Given the description of an element on the screen output the (x, y) to click on. 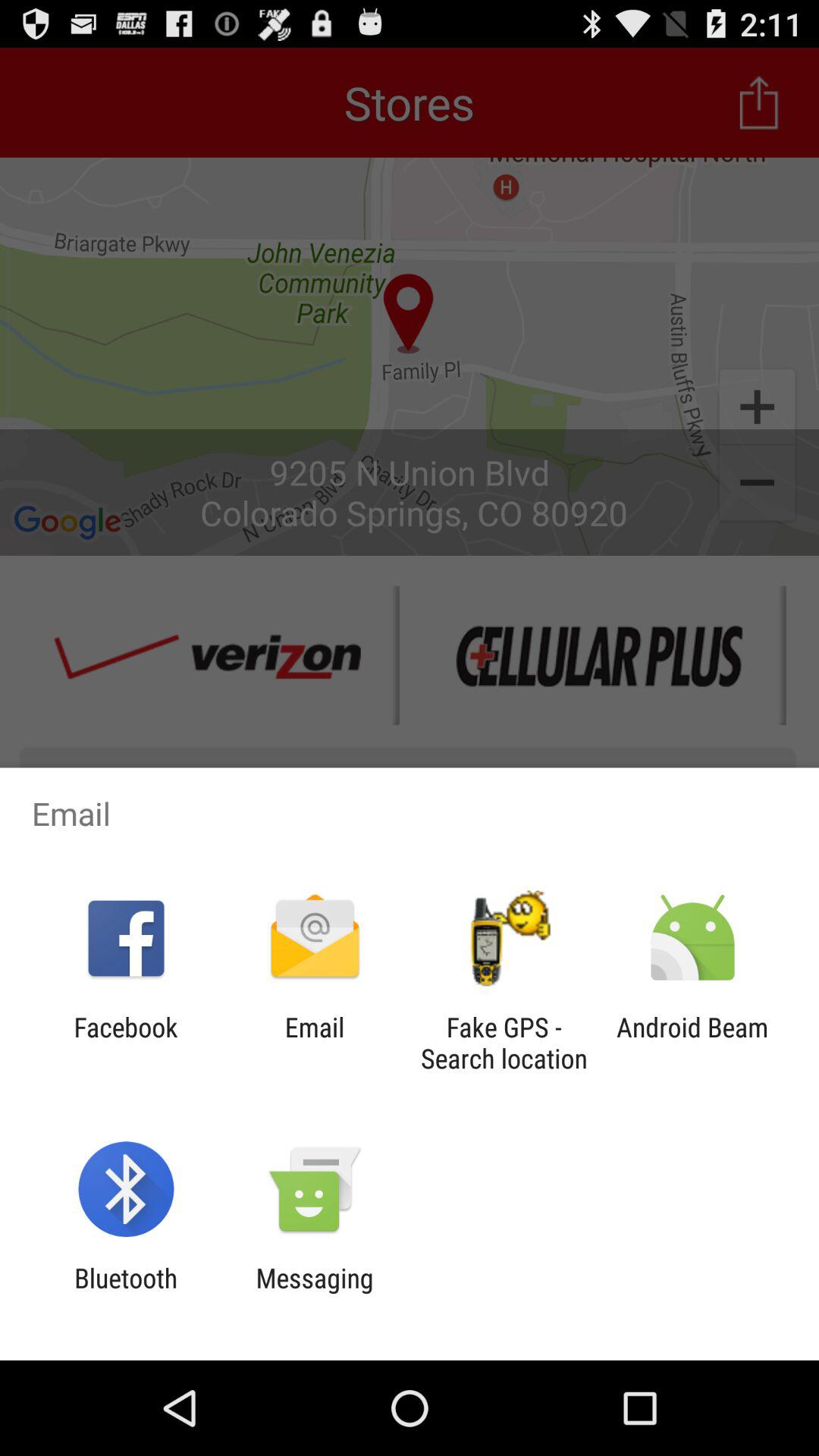
select icon to the left of messaging item (125, 1293)
